Given the description of an element on the screen output the (x, y) to click on. 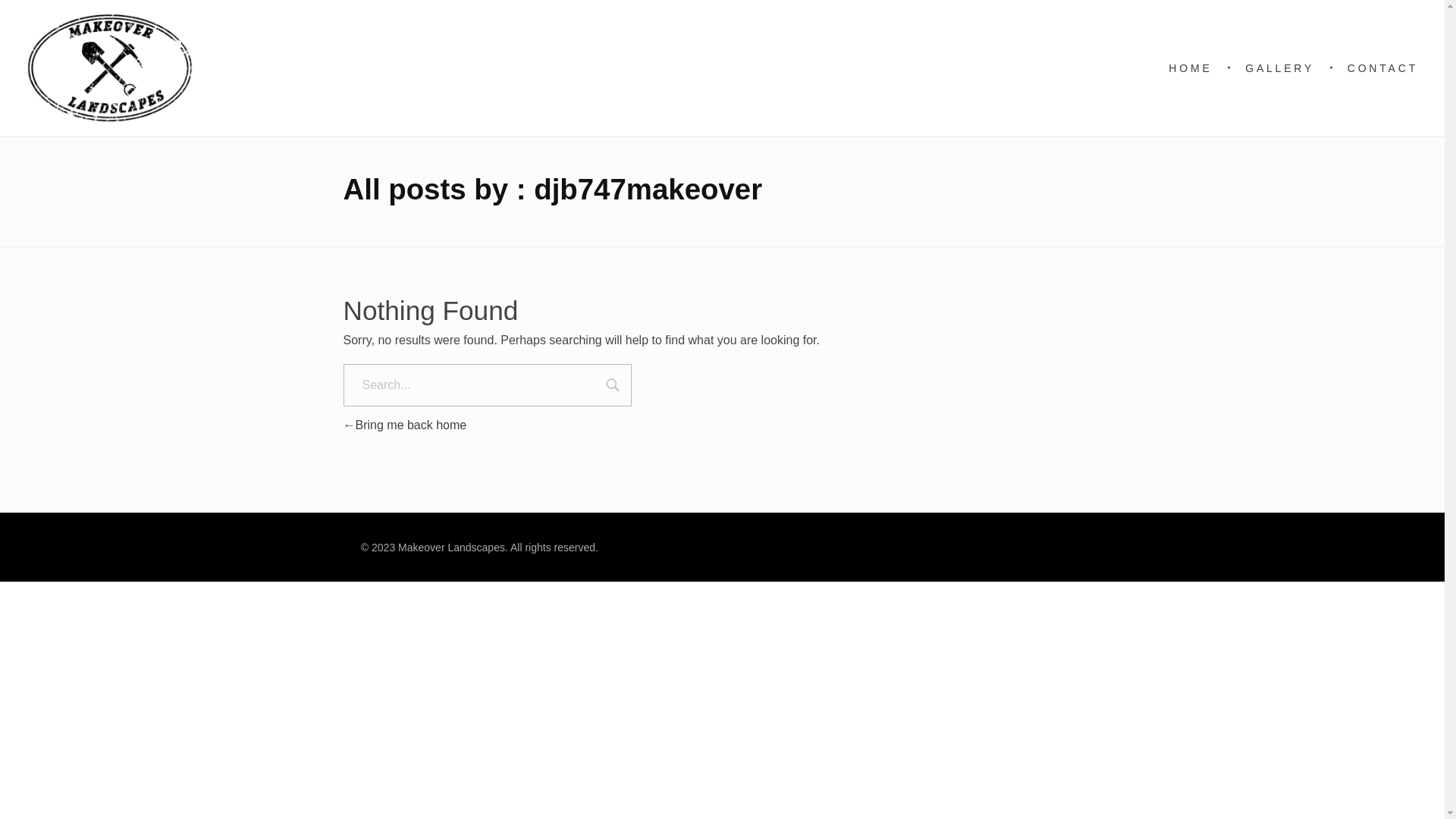
HOME Element type: text (1199, 68)
GALLERY Element type: text (1282, 68)
CONTACT Element type: text (1375, 68)
Bring me back home Element type: text (404, 424)
Search Element type: text (612, 386)
